Given the description of an element on the screen output the (x, y) to click on. 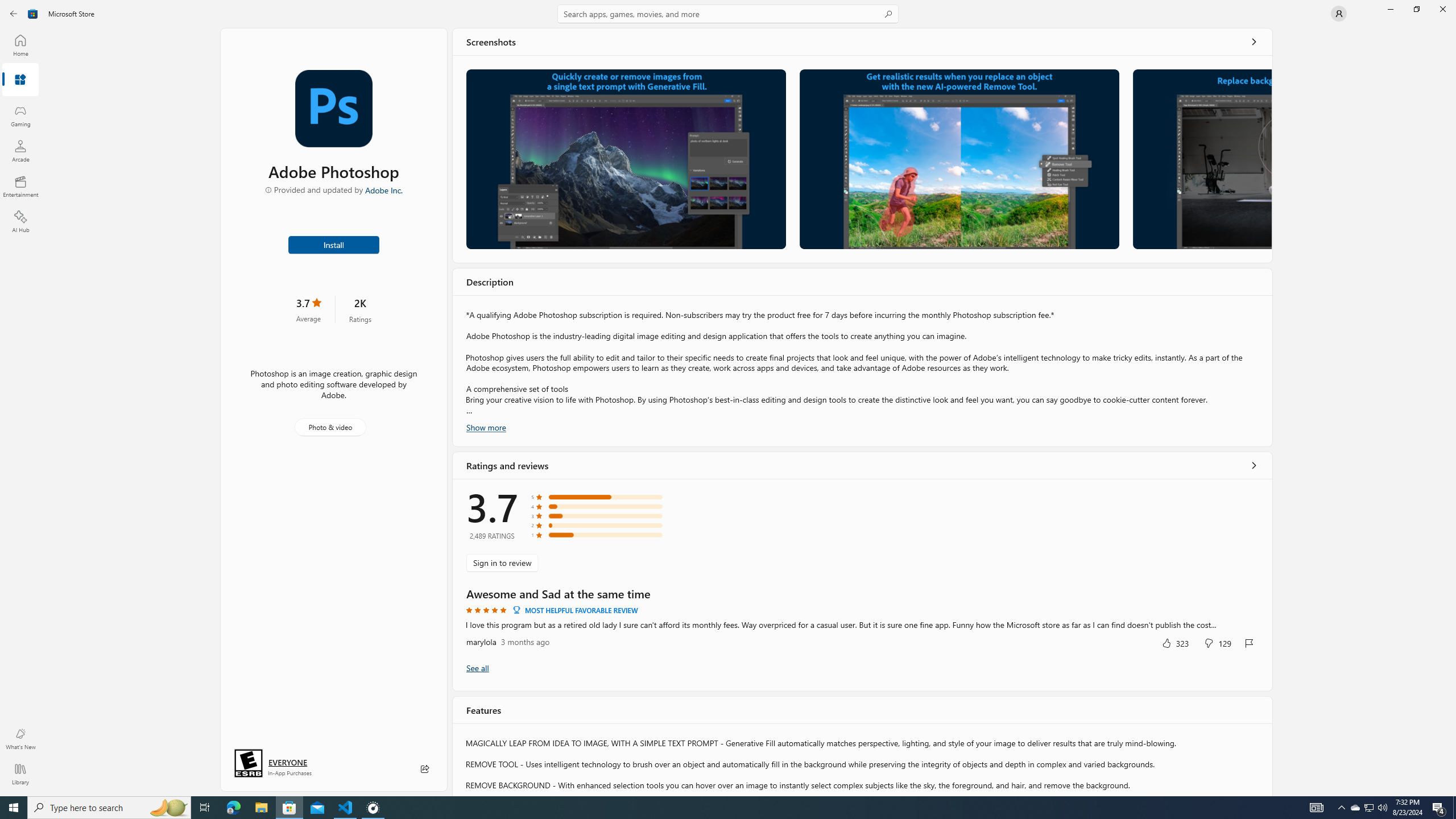
Install (334, 244)
Screenshot 1 (625, 158)
Yes, this was helpful. 323 votes. (1174, 642)
Show all ratings and reviews (477, 667)
See all (1253, 41)
Adobe Inc. (384, 189)
Age rating: EVERYONE. Click for more information. (287, 762)
Share (424, 769)
